Given the description of an element on the screen output the (x, y) to click on. 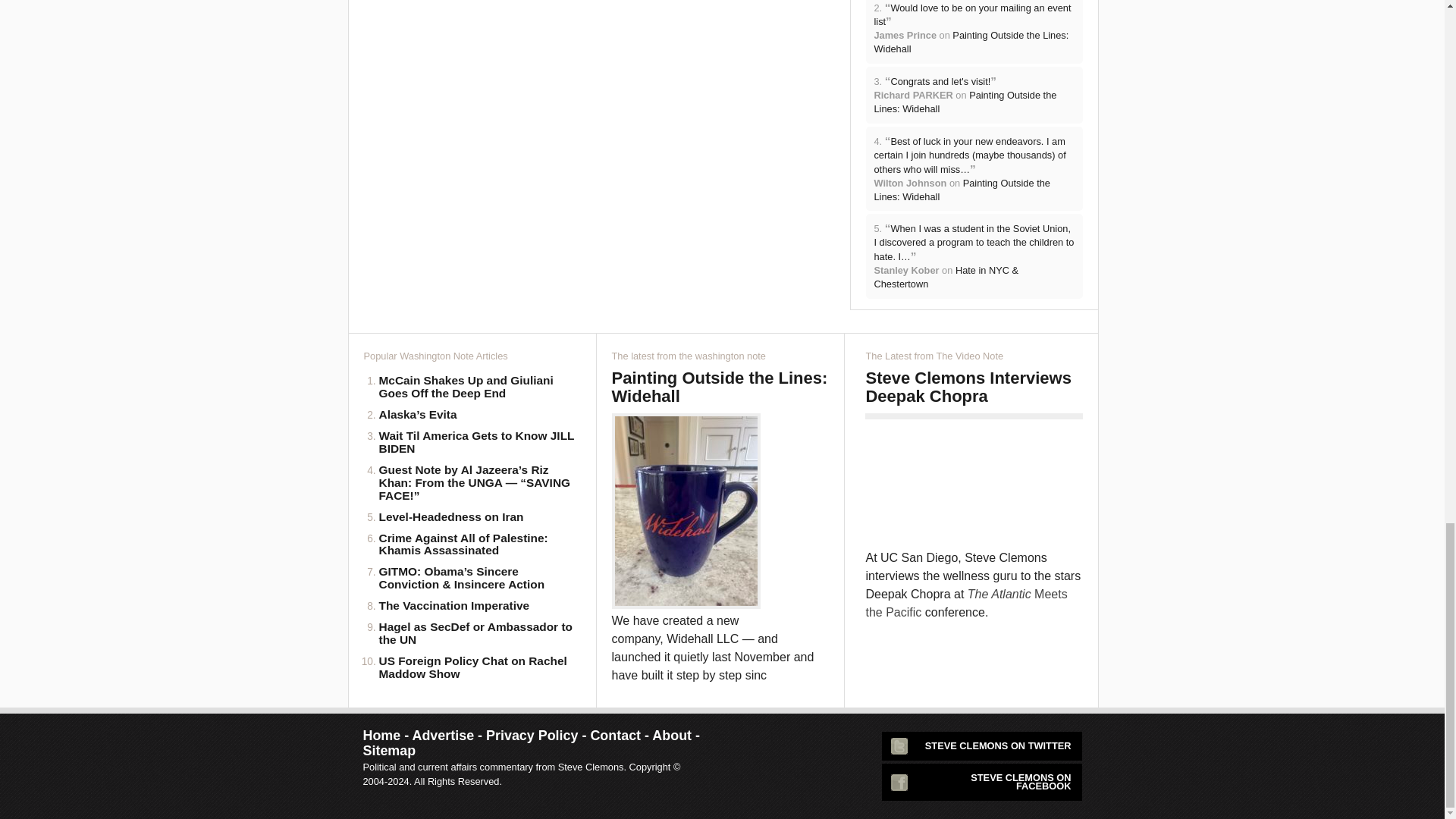
McCain Shakes Up and Giuliani Goes Off the Deep End (479, 387)
